Given the description of an element on the screen output the (x, y) to click on. 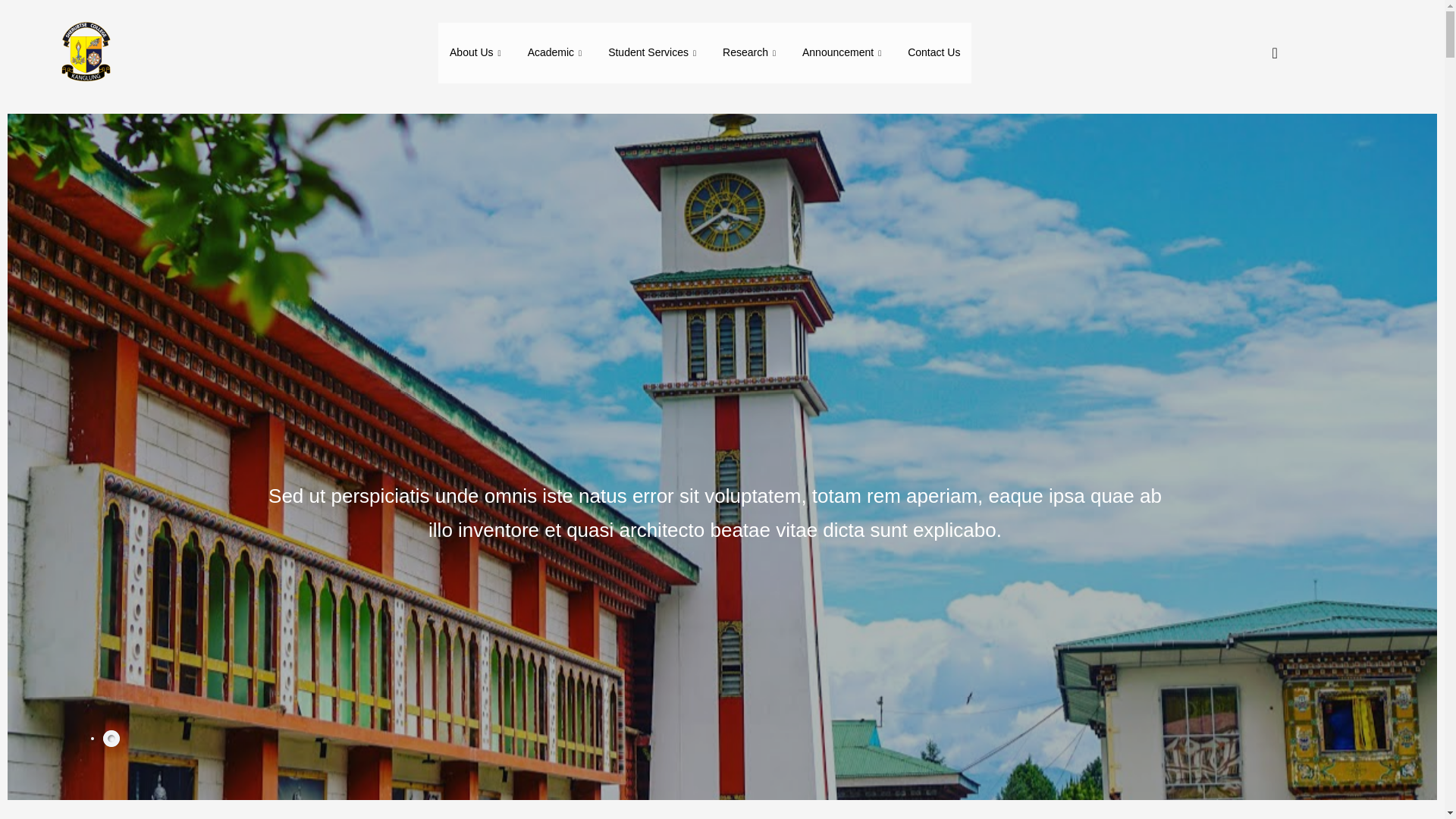
About Us (477, 52)
Student Services (653, 52)
logo-removebg-preview-1 (84, 52)
Announcement (843, 52)
Contact Us (933, 52)
Academic (556, 52)
Research (750, 52)
